Given the description of an element on the screen output the (x, y) to click on. 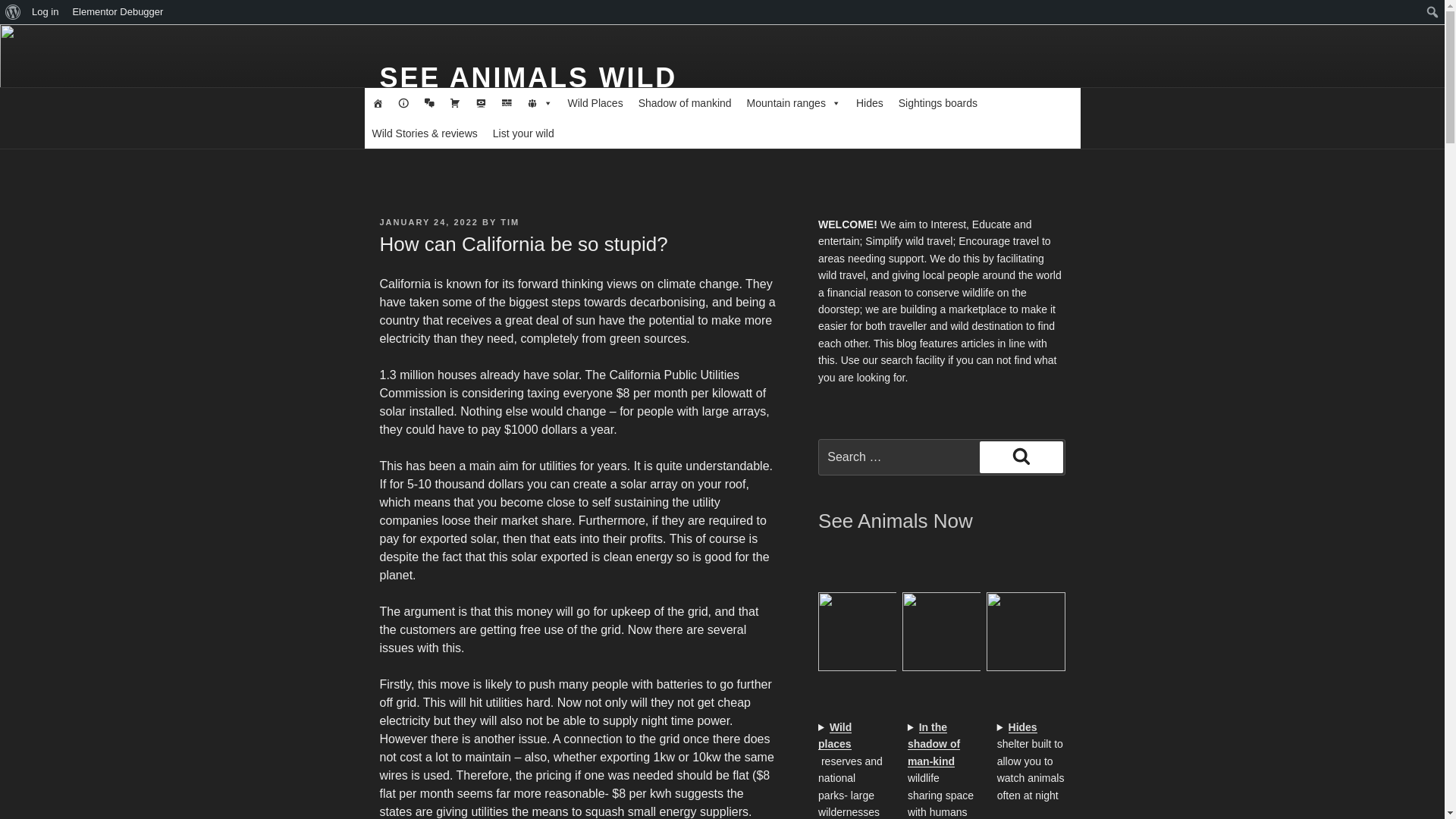
Shadow of mankind (684, 102)
SEE ANIMALS WILD (527, 77)
Log in (45, 12)
Hides (869, 102)
Sightings boards (938, 102)
Mountain ranges (793, 102)
Wild Places (594, 102)
Search (15, 12)
